Given the description of an element on the screen output the (x, y) to click on. 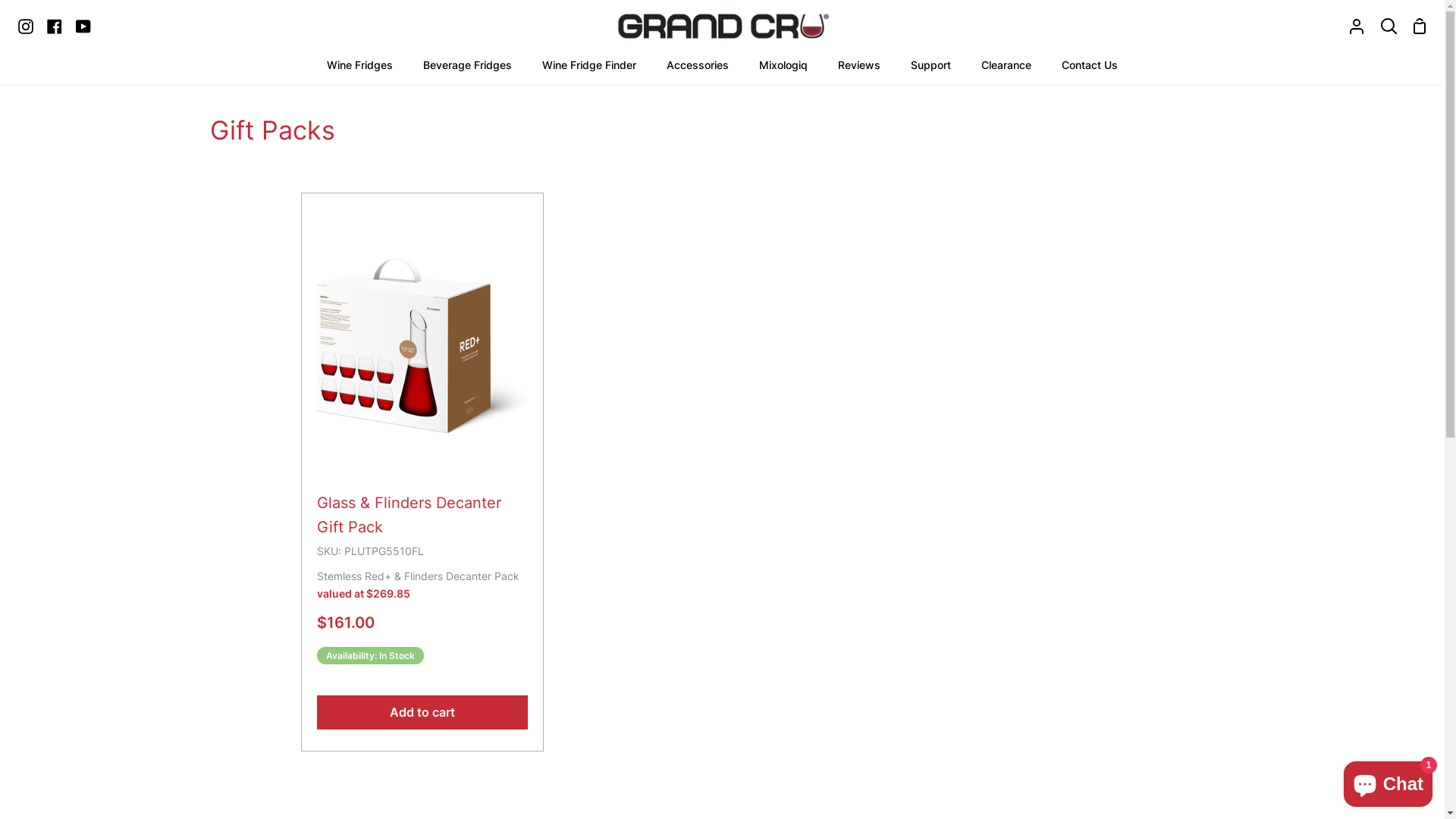
Facebook Element type: text (54, 25)
YouTube Element type: text (83, 25)
Mixologiq Element type: text (782, 68)
Reviews Element type: text (858, 68)
Wine Fridge Finder Element type: text (589, 68)
Add to cart Element type: text (421, 712)
Support Element type: text (930, 68)
Glass & Flinders Decanter Gift Pack Element type: text (421, 472)
Clearance Element type: text (1006, 68)
Contact Us Element type: text (1089, 68)
Beverage Fridges Element type: text (467, 68)
Shopping Cart Element type: text (1419, 26)
Wine Fridges Element type: text (359, 68)
Search Element type: text (1388, 26)
Instagram Element type: text (29, 25)
My Account Element type: text (1356, 26)
Shopify online store chat Element type: hover (1388, 780)
Accessories Element type: text (697, 68)
